Given the description of an element on the screen output the (x, y) to click on. 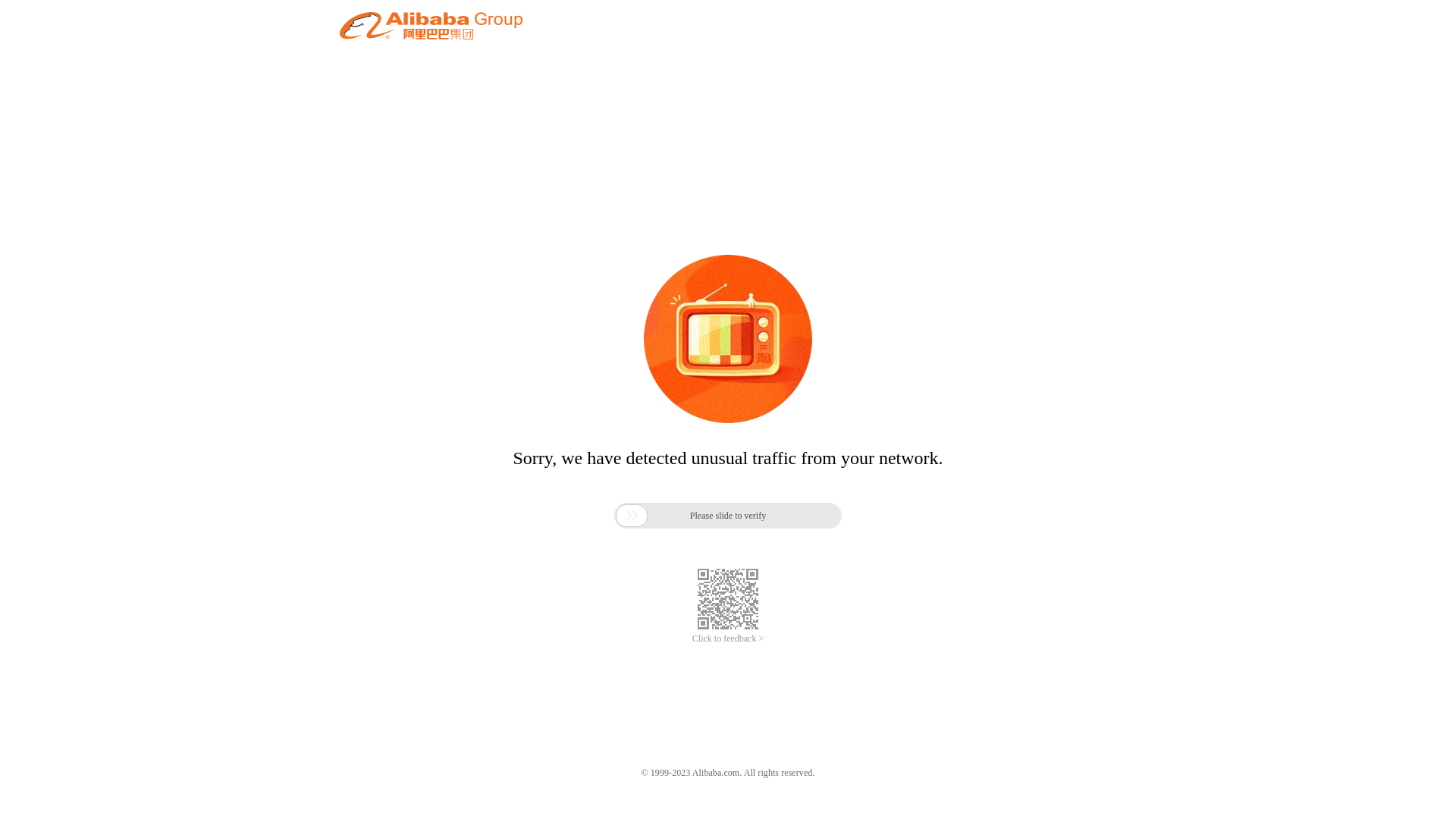
Click to feedback > Element type: text (727, 638)
